Given the description of an element on the screen output the (x, y) to click on. 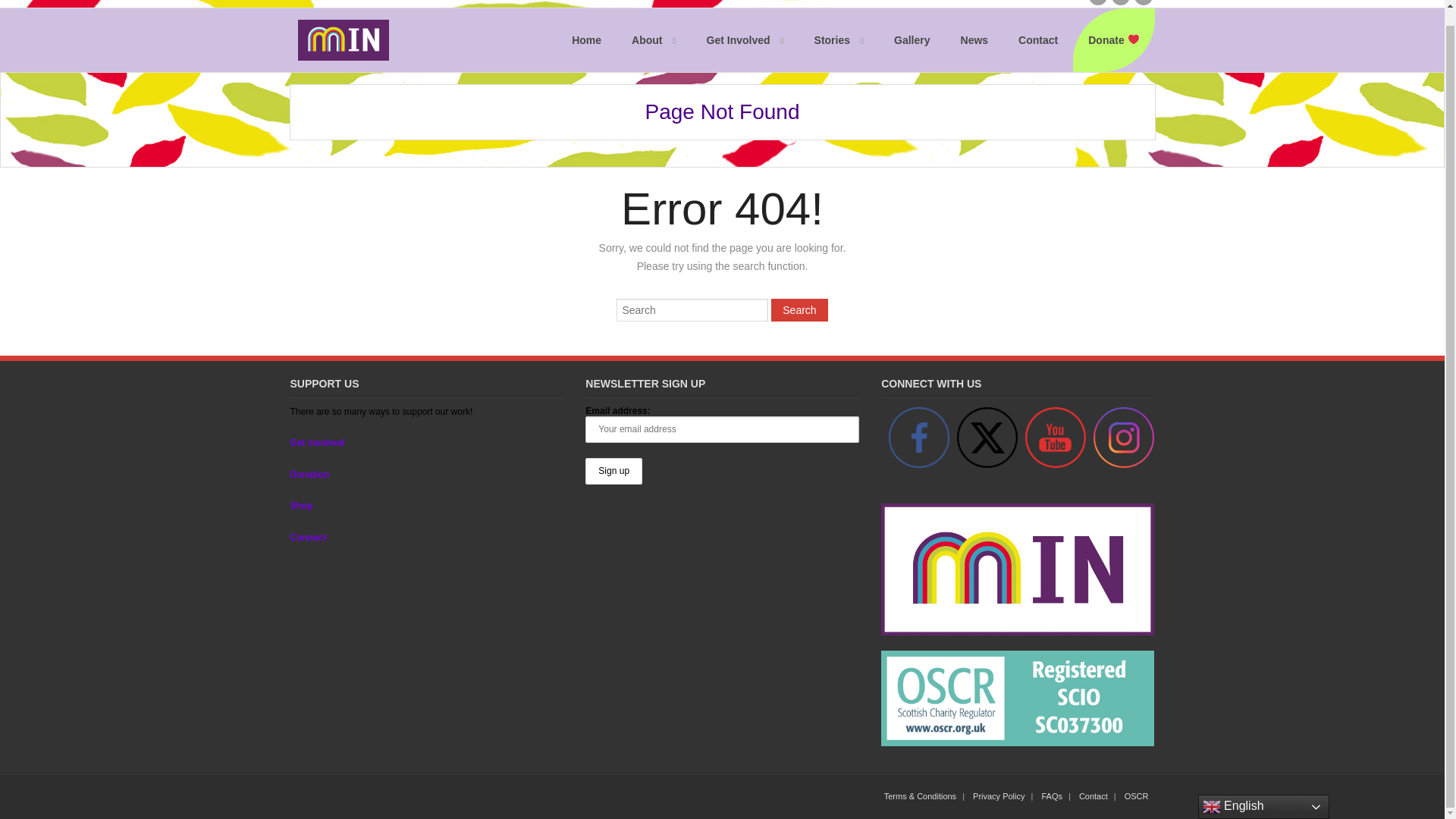
Get Involved (745, 40)
Gallery (911, 40)
Search (799, 309)
Home (585, 40)
Contact (1038, 40)
Instagram (1123, 437)
Twitter (986, 437)
News (974, 40)
Donate (1113, 40)
About (652, 40)
YouTube (1055, 437)
Sign up (613, 470)
Facebook (918, 437)
Stories (839, 40)
Search (799, 309)
